Given the description of an element on the screen output the (x, y) to click on. 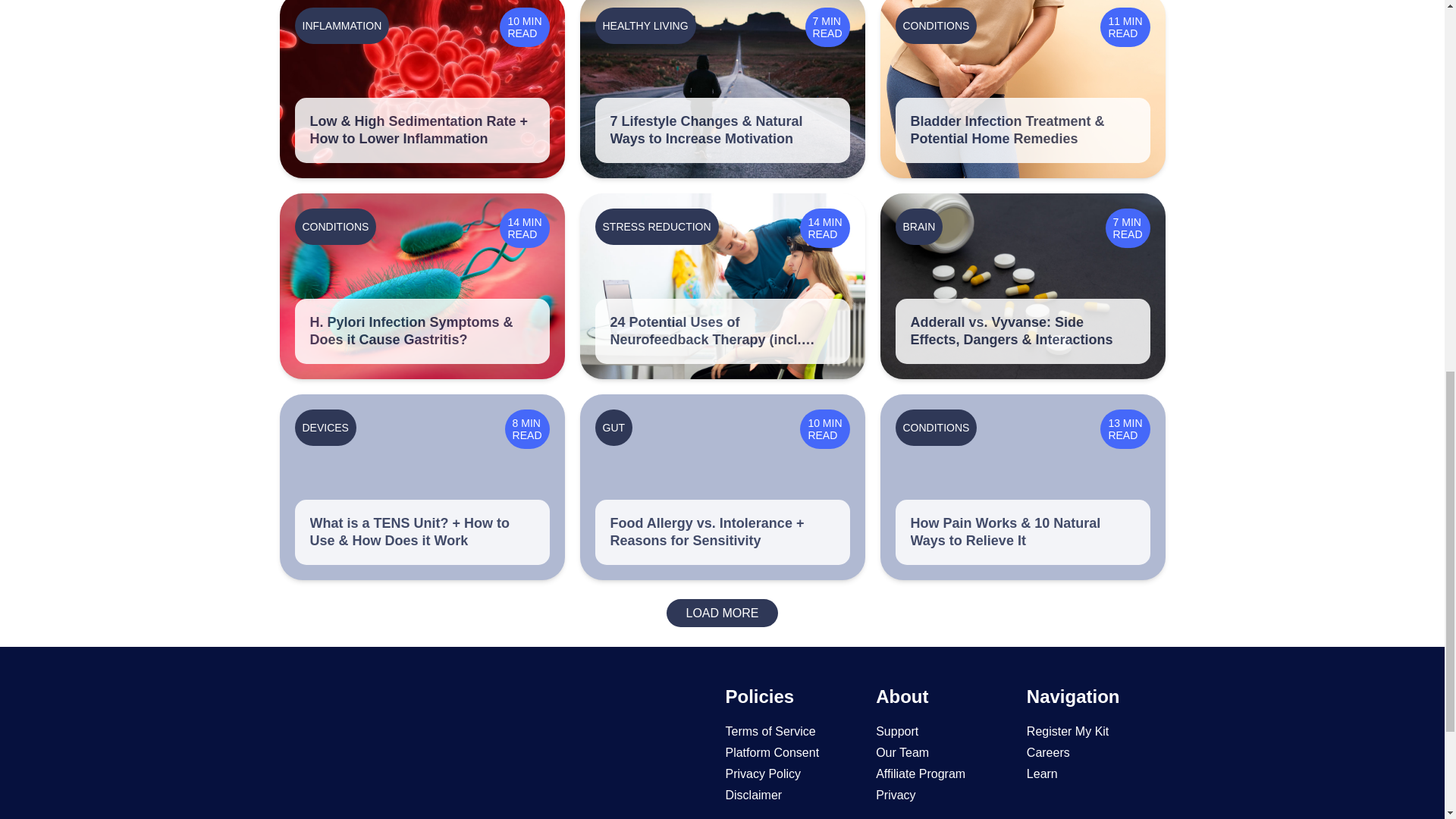
STRESS REDUCTION (655, 226)
Terms of Service (770, 730)
INFLAMMATION (341, 24)
Platform Consent (771, 752)
GUT (612, 427)
Privacy Policy (762, 773)
DEVICES (324, 427)
CONDITIONS (334, 226)
LOAD MORE (721, 612)
CONDITIONS (935, 427)
BRAIN (918, 226)
HEALTHY LIVING (644, 24)
CONDITIONS (935, 24)
